Given the description of an element on the screen output the (x, y) to click on. 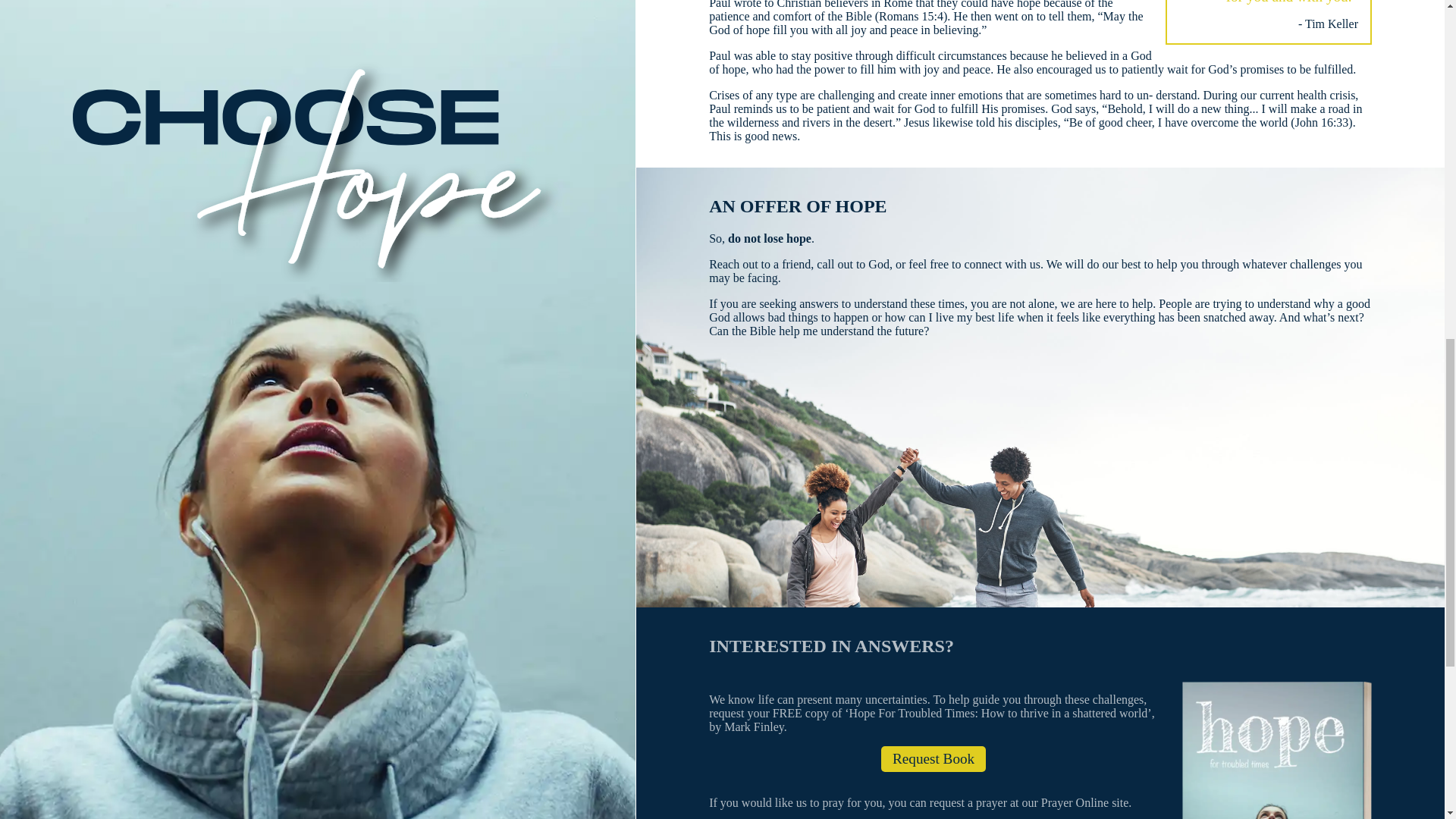
Request Book (932, 759)
